Given the description of an element on the screen output the (x, y) to click on. 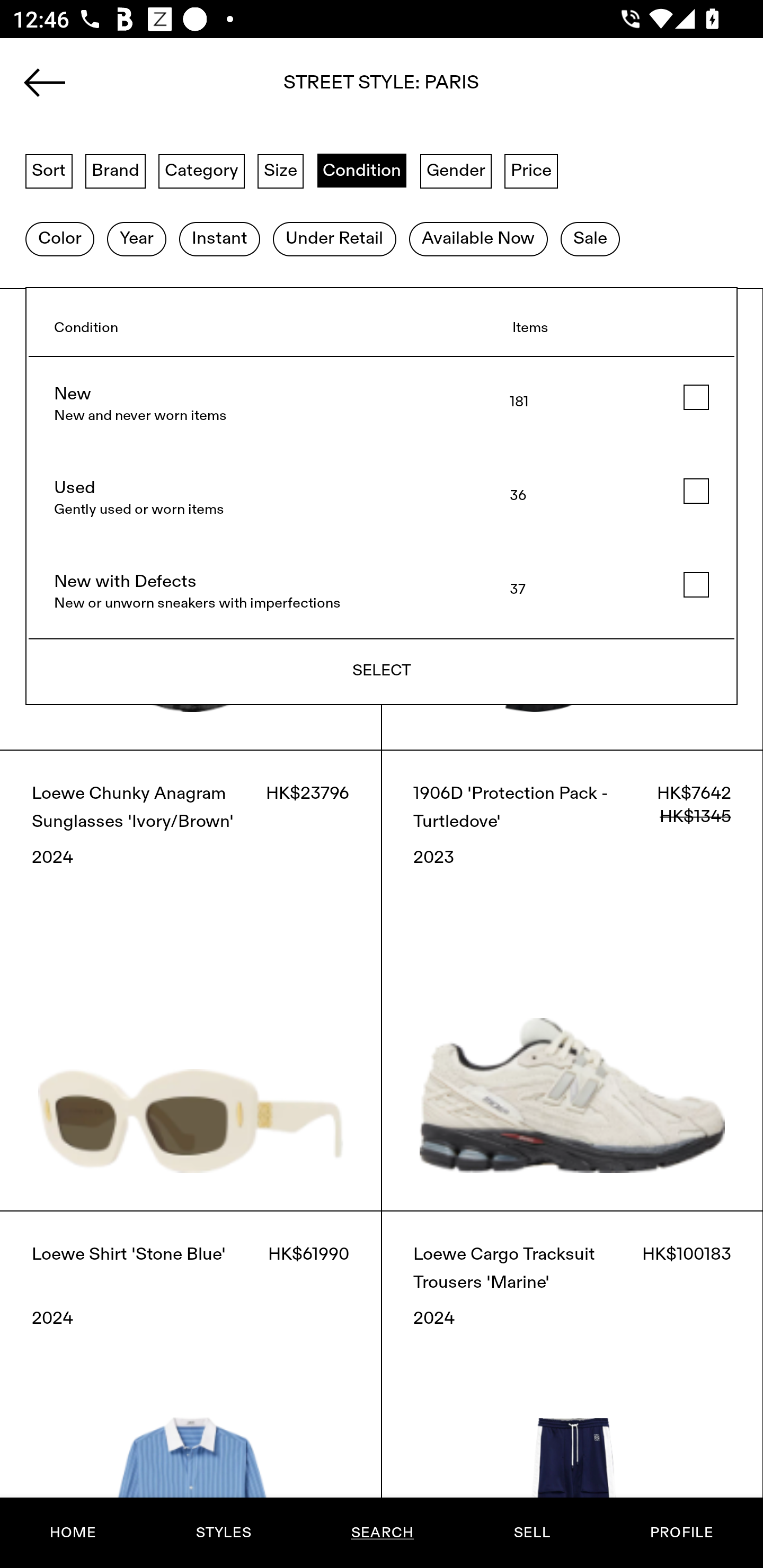
Search (381, 88)
basketball shoes (381, 88)
Sort (48, 170)
Brand (115, 170)
Category (201, 170)
Size (280, 170)
Condition (361, 170)
Gender (455, 170)
Price (530, 170)
Color (59, 239)
Year (136, 239)
Instant (219, 239)
Under Retail (334, 239)
Available Now (477, 239)
Sale (589, 239)
New New and never worn items 181 (381, 404)
Used Gently used or worn items 36 (381, 497)
Loewe Shirt 'Stone Blue' HK$61990 2024 (190, 1389)
HOME (72, 1532)
STYLES (222, 1532)
SEARCH (381, 1532)
SELL (531, 1532)
PROFILE (681, 1532)
